Given the description of an element on the screen output the (x, y) to click on. 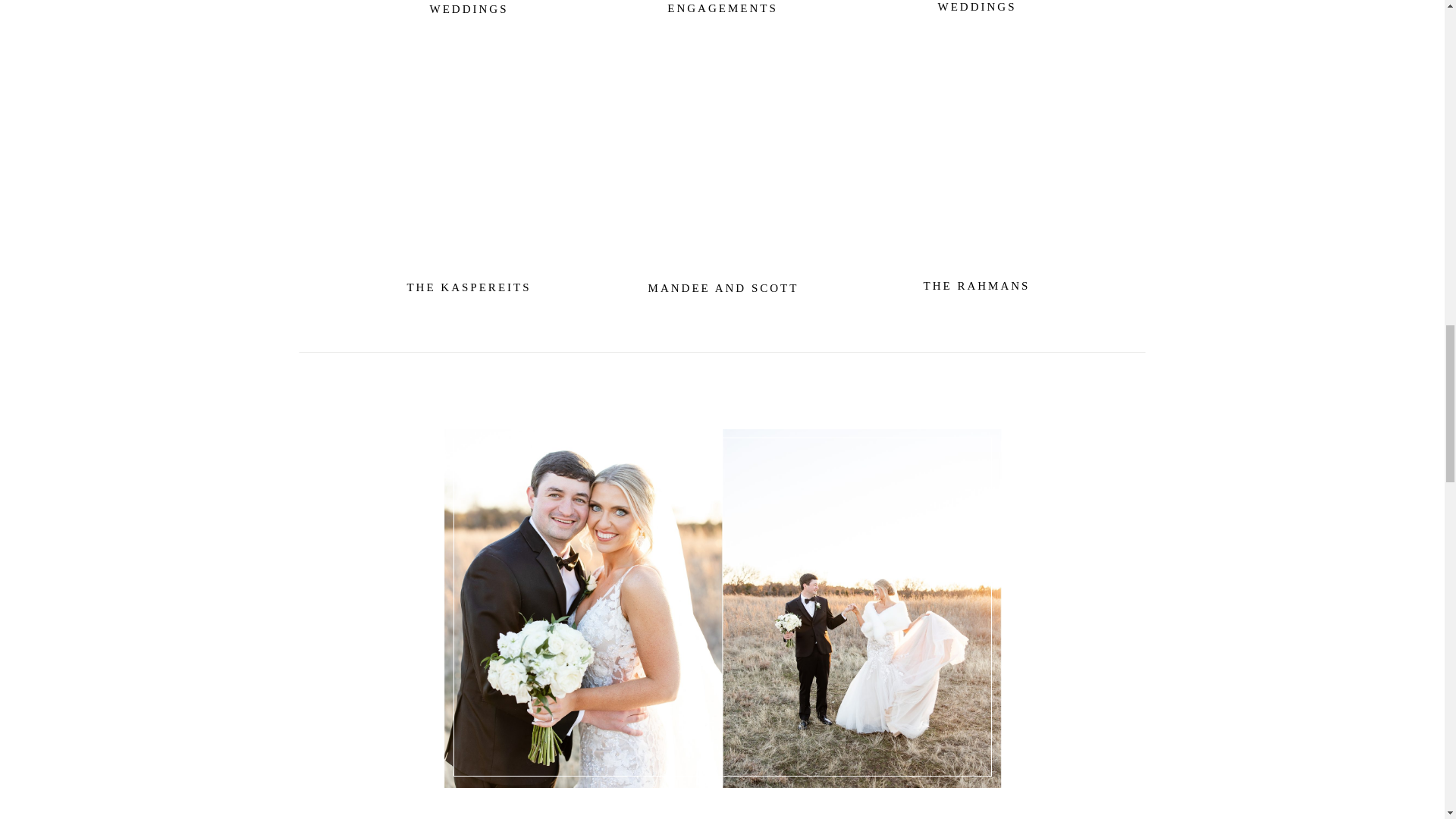
THE RAHMANS (976, 283)
MANDEE AND SCOTT (724, 286)
THE KASPEREITS (468, 285)
